Given the description of an element on the screen output the (x, y) to click on. 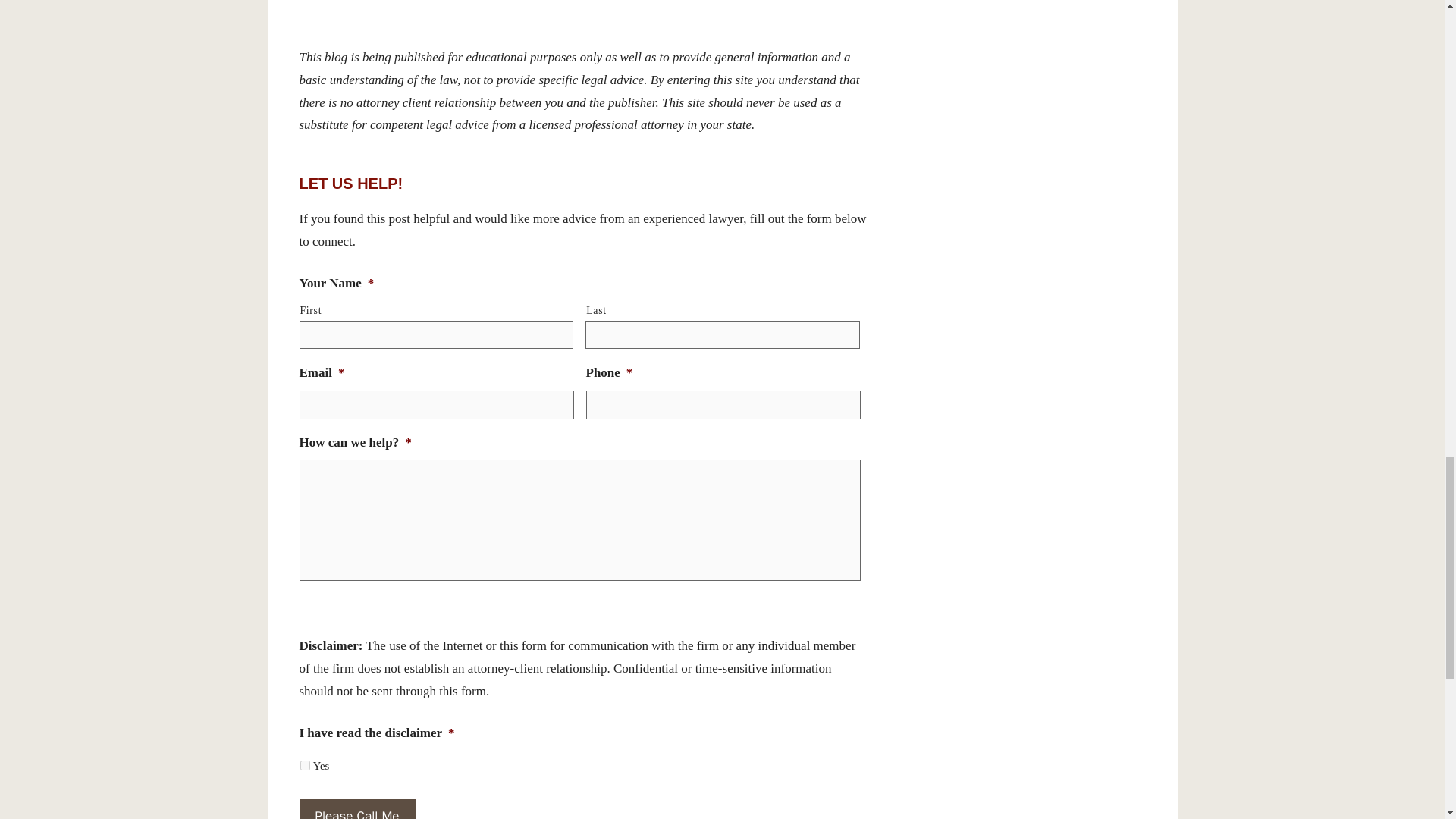
Please Call Me (356, 808)
Please Call Me (356, 808)
Yes (304, 765)
